Given the description of an element on the screen output the (x, y) to click on. 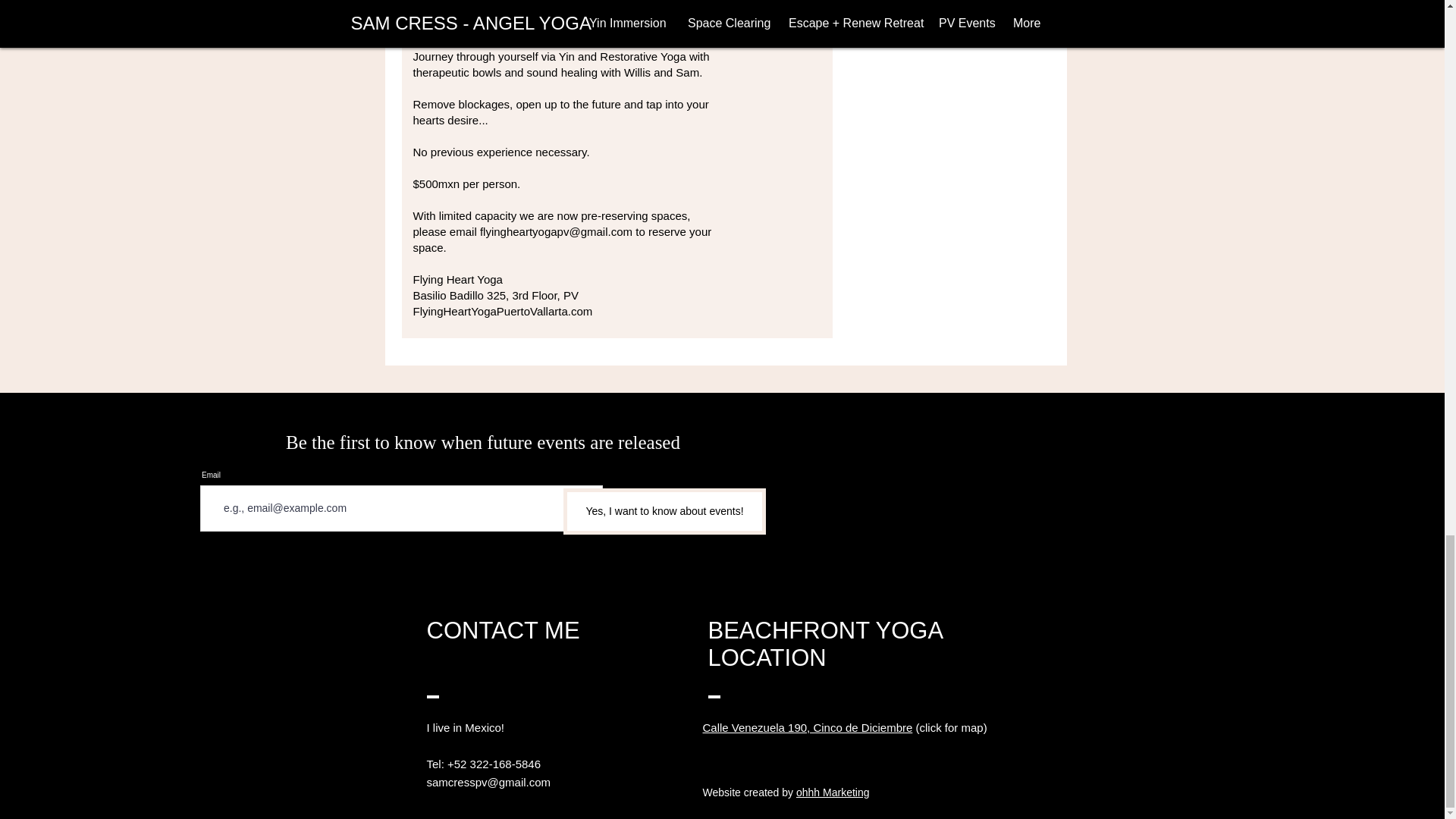
Yes, I want to know about events! (664, 511)
ohhh Marketing (832, 792)
Calle Venezuela 190, Cinco de Diciembre (806, 727)
